Given the description of an element on the screen output the (x, y) to click on. 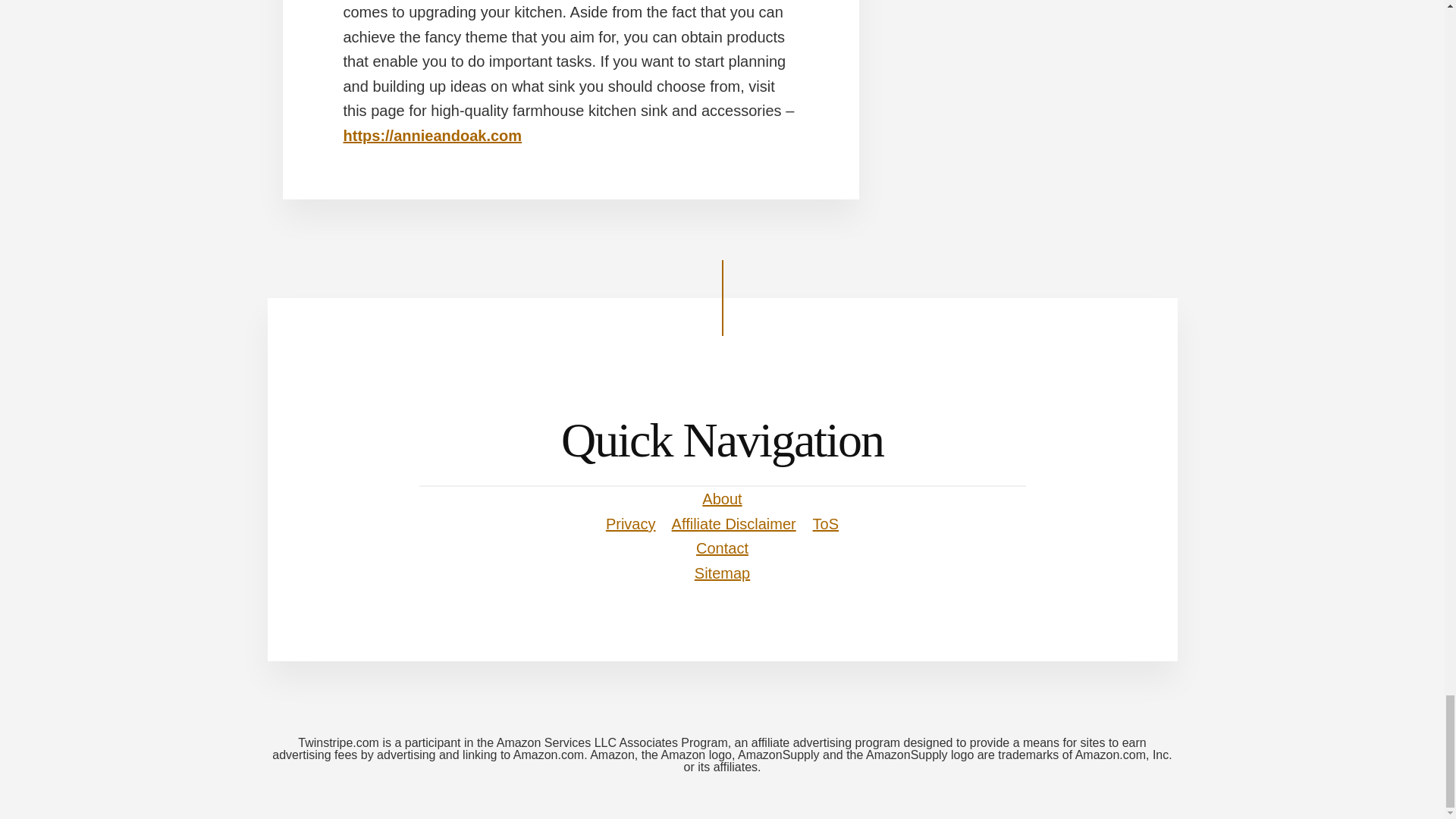
Contact (721, 547)
Privacy (630, 523)
Affiliate Disclaimer (733, 523)
About (721, 498)
Sitemap (721, 573)
ToS (825, 523)
